Given the description of an element on the screen output the (x, y) to click on. 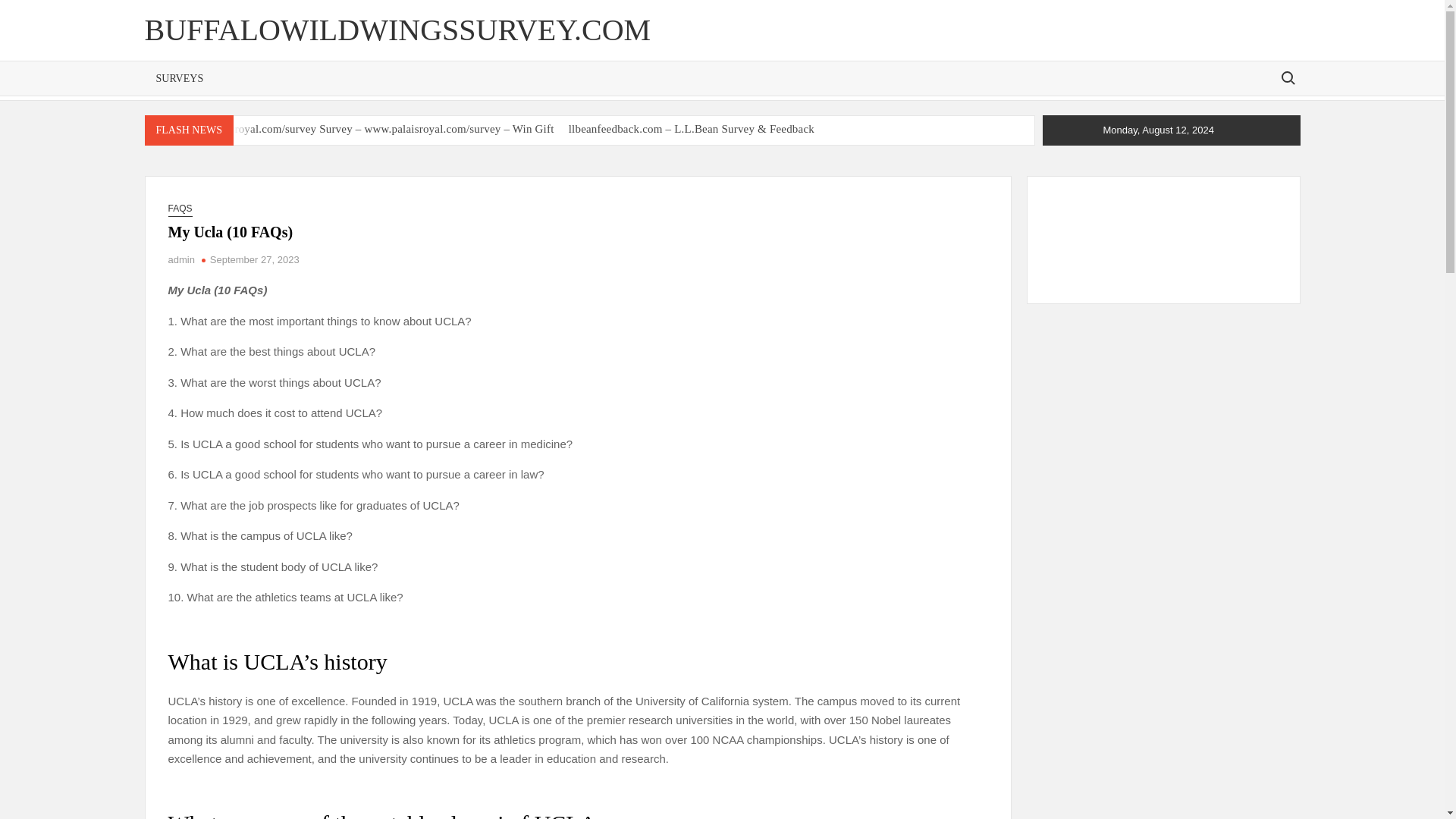
SURVEYS (179, 78)
FAQS (180, 208)
Search for: (1287, 77)
September 27, 2023 (254, 259)
BUFFALOWILDWINGSSURVEY.COM (397, 29)
admin (181, 259)
